Given the description of an element on the screen output the (x, y) to click on. 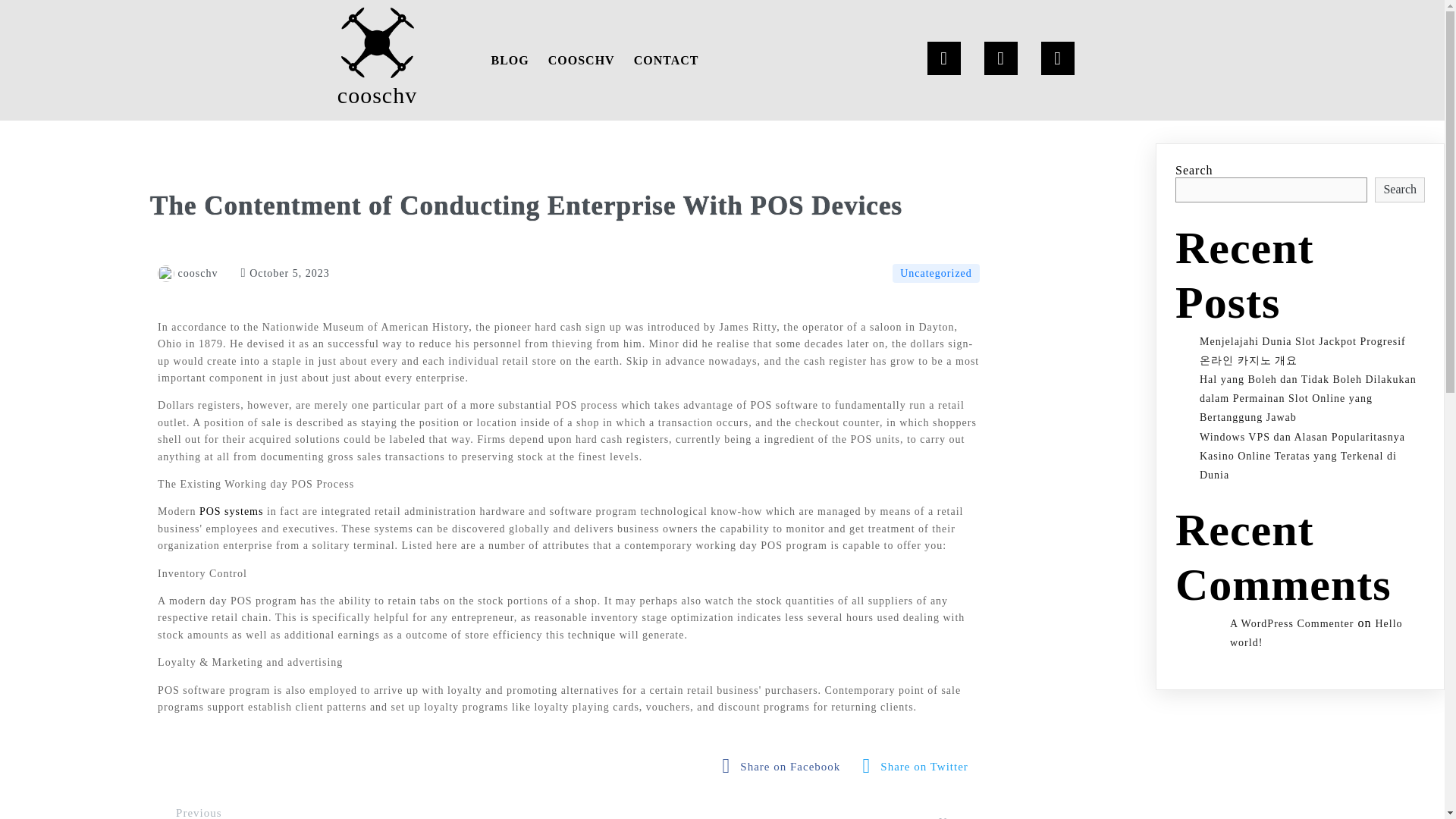
COOSCHV (581, 59)
Kasino Online Teratas yang Terkenal di Dunia (1297, 465)
Windows VPS dan Alasan Popularitasnya (1302, 437)
October 5, 2023 (285, 272)
Share on Facebook (786, 765)
fab fa-twitter-square (920, 765)
Search (1399, 189)
A WordPress Commenter (1292, 623)
cooschv (377, 60)
